Given the description of an element on the screen output the (x, y) to click on. 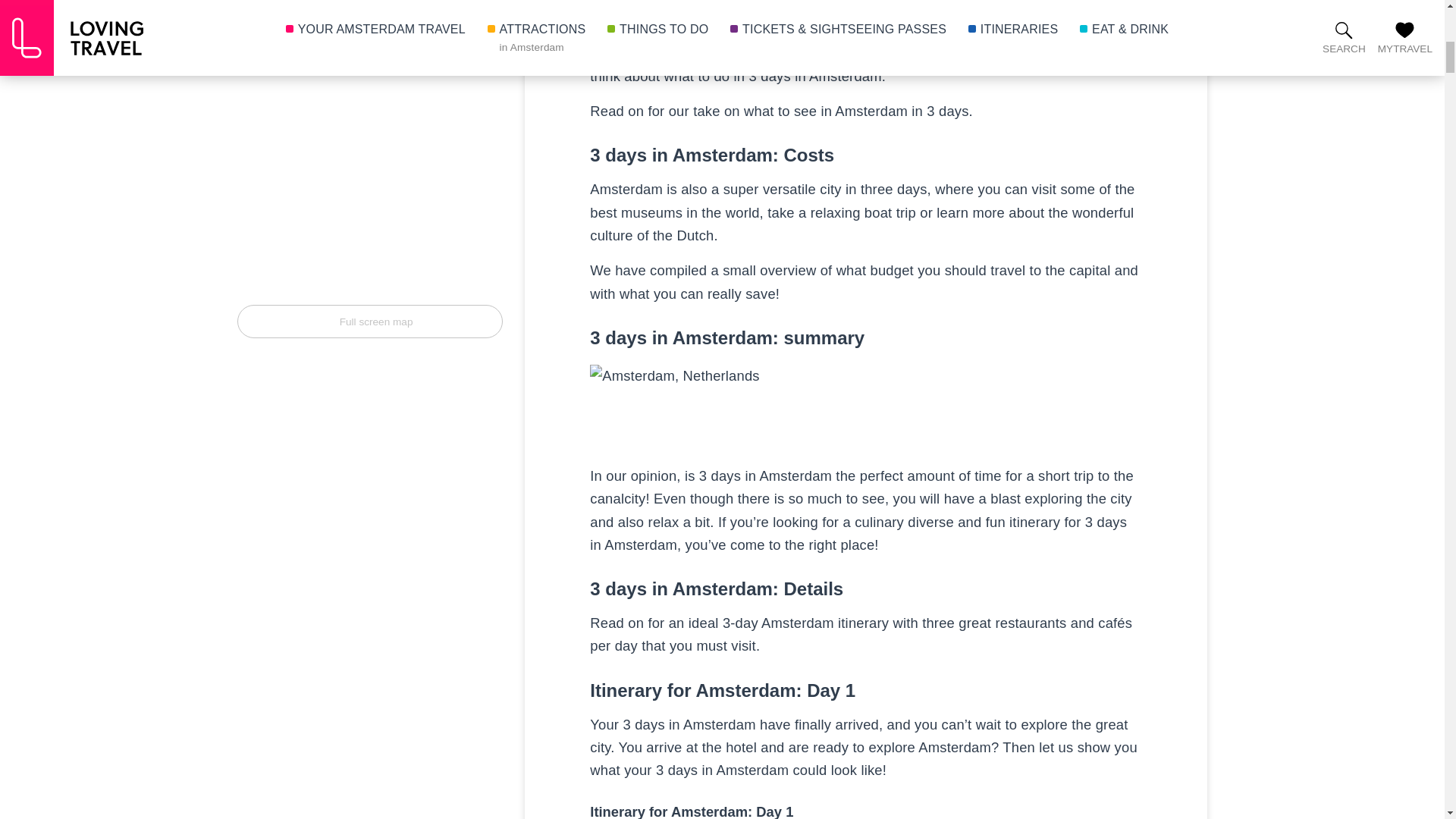
3 days in Amsterdam (673, 406)
